Given the description of an element on the screen output the (x, y) to click on. 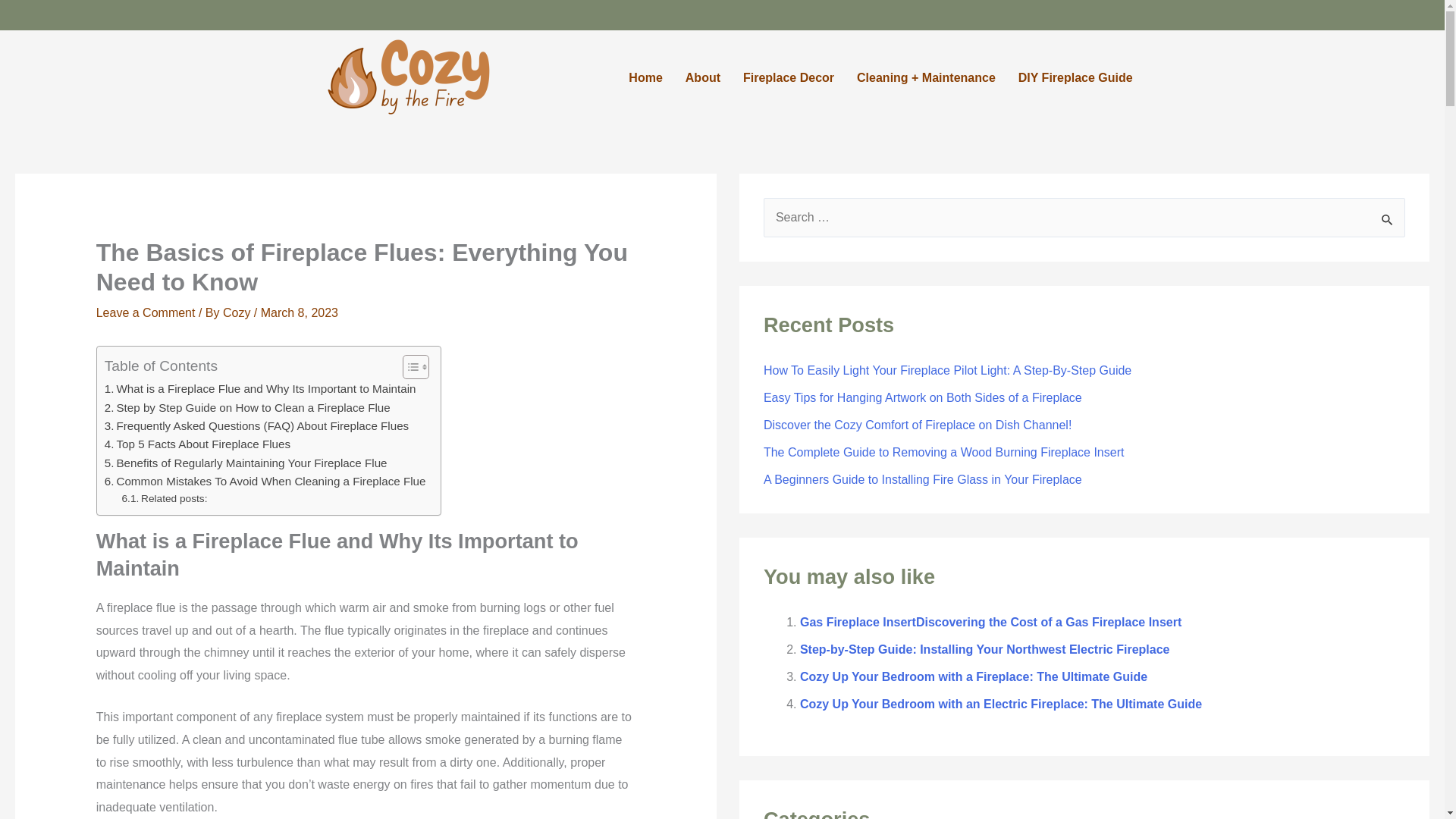
DIY Fireplace Guide (1075, 77)
What is a Fireplace Flue and Why Its Important to Maintain (260, 389)
Related posts: (165, 498)
Top 5 Facts About Fireplace Flues (196, 443)
Common Mistakes To Avoid When Cleaning a Fireplace Flue (265, 481)
What is a Fireplace Flue and Why Its Important to Maintain (260, 389)
Fireplace Decor (788, 77)
Related posts: (165, 498)
Leave a Comment (145, 312)
